Given the description of an element on the screen output the (x, y) to click on. 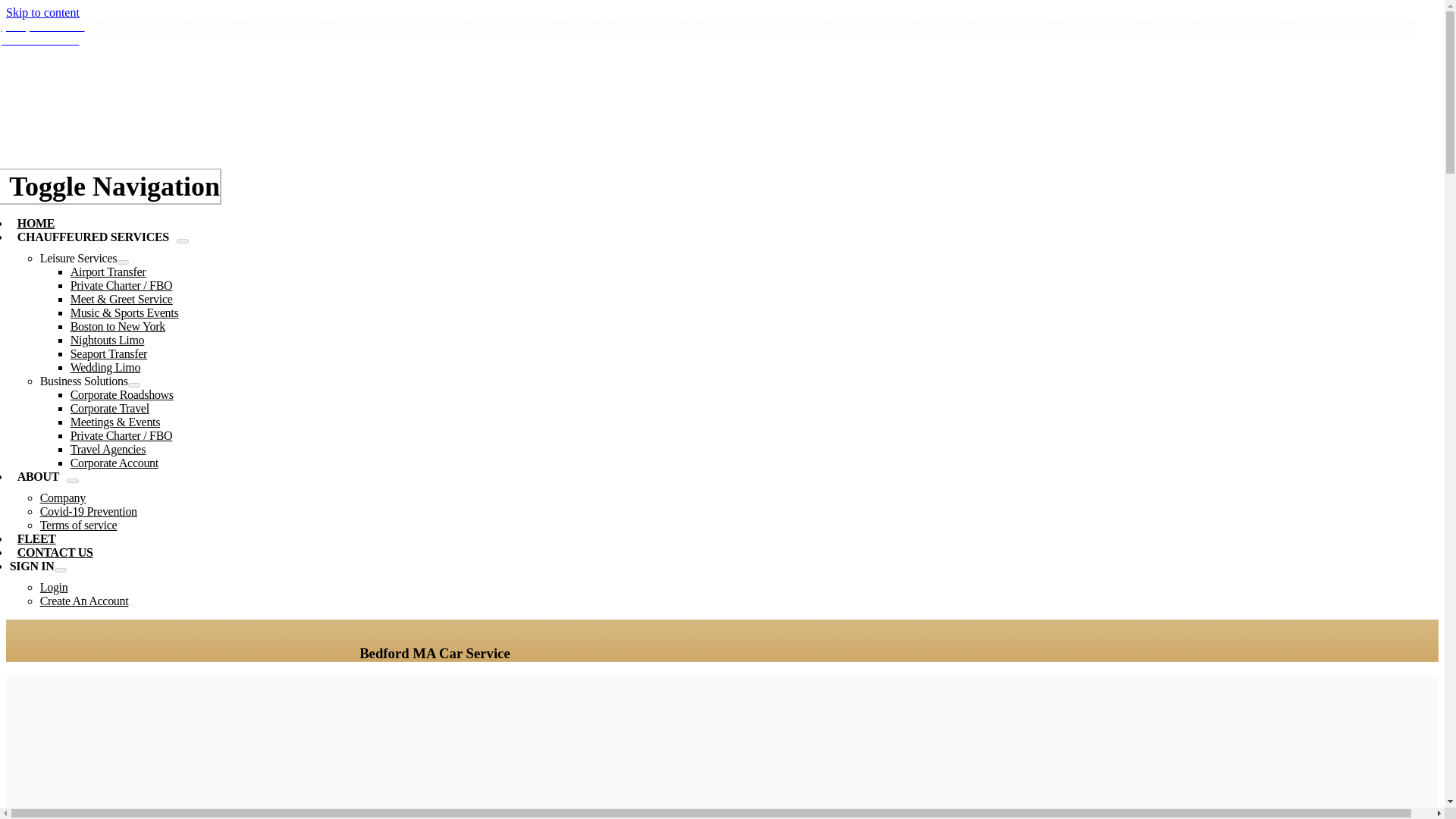
Seaport Transfer (108, 353)
CHAUFFEURED SERVICES (93, 236)
Nightouts Limo (106, 339)
Toggle Navigation (110, 186)
Leisure Services (78, 257)
FLEET (37, 538)
HOME (36, 223)
Wedding Limo (104, 366)
Corporate Account (113, 462)
BOOK A RIDE (39, 39)
